Given the description of an element on the screen output the (x, y) to click on. 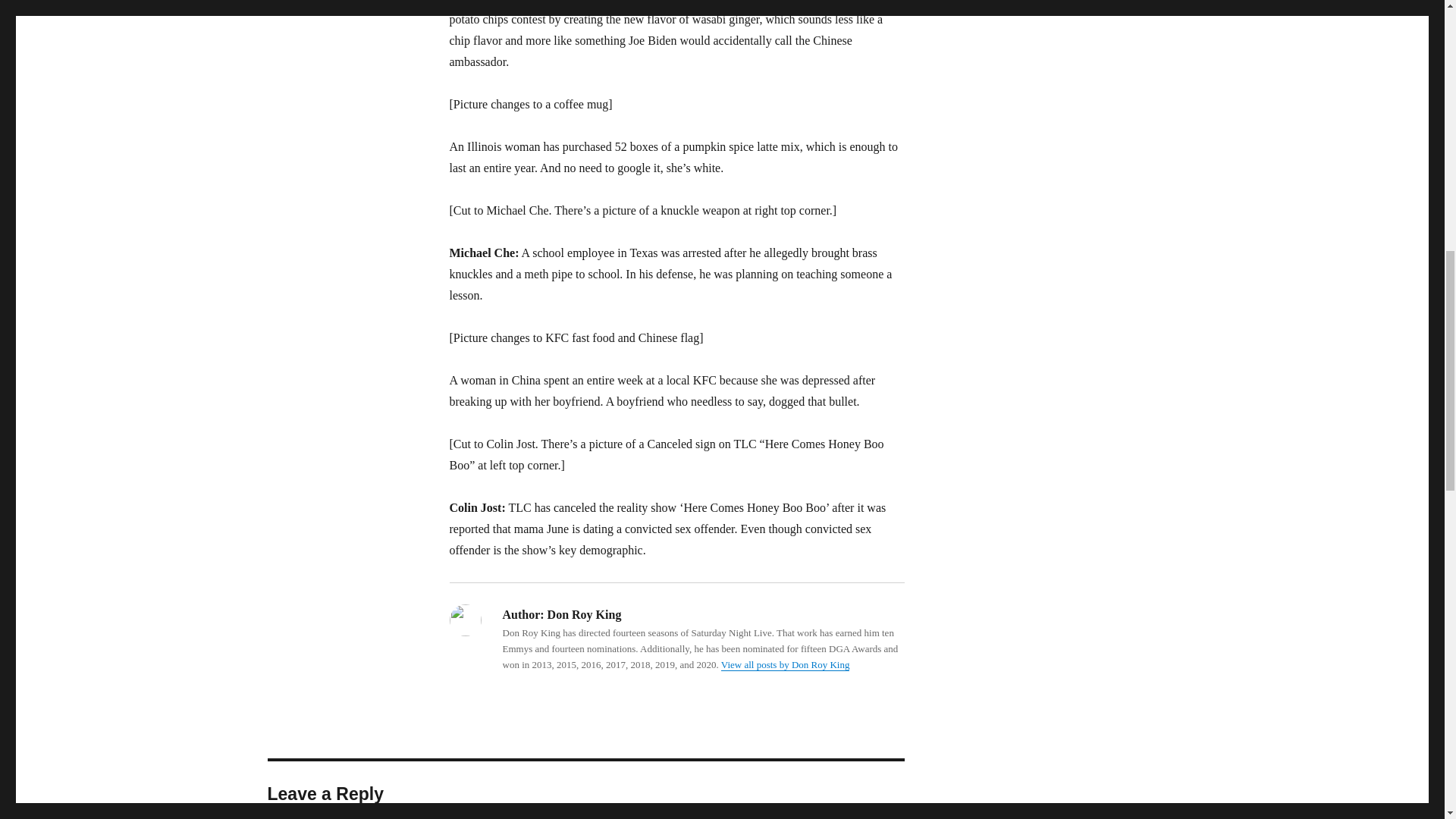
View all posts by Don Roy King (785, 664)
